Given the description of an element on the screen output the (x, y) to click on. 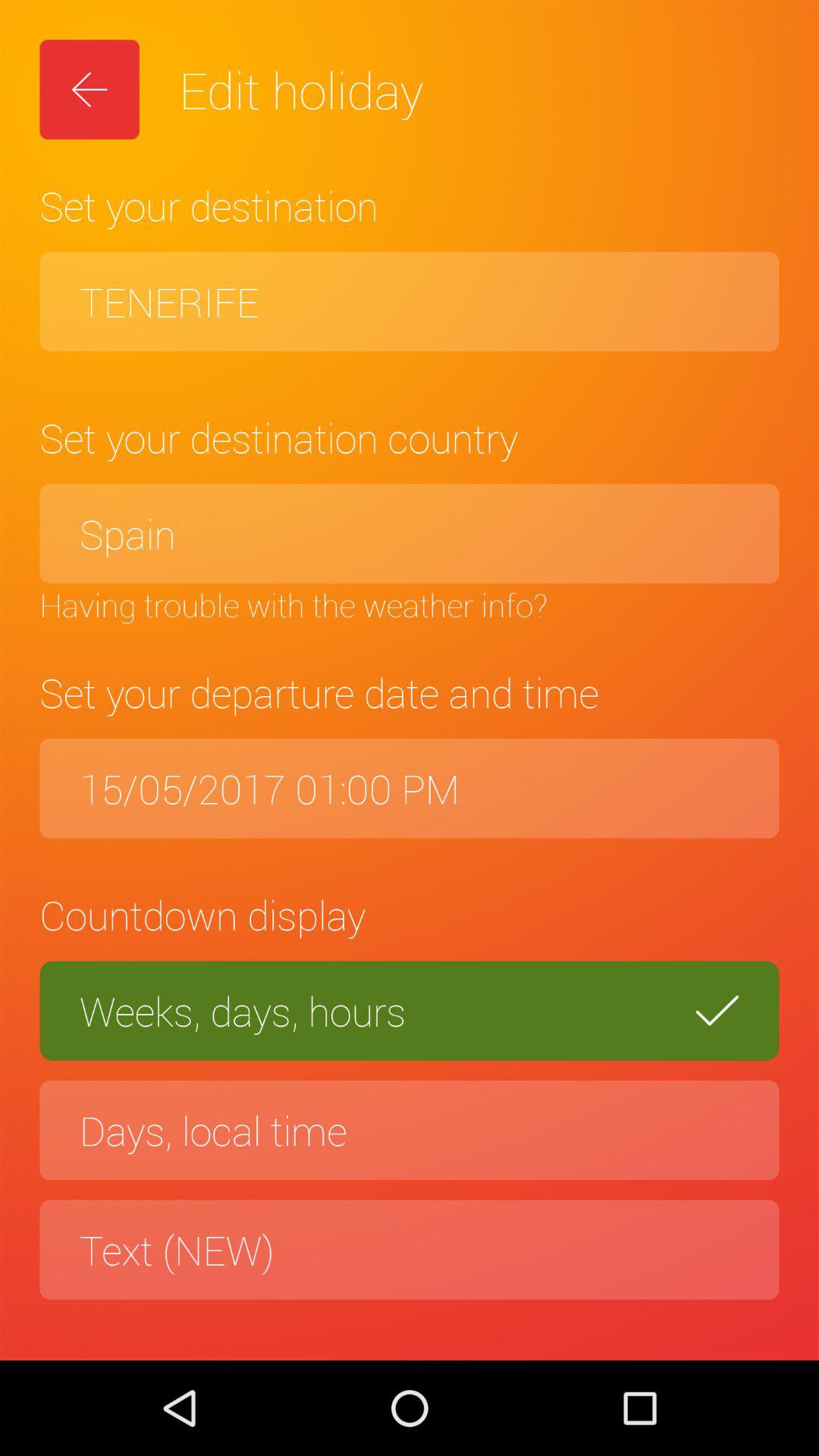
open spain (409, 533)
